Given the description of an element on the screen output the (x, y) to click on. 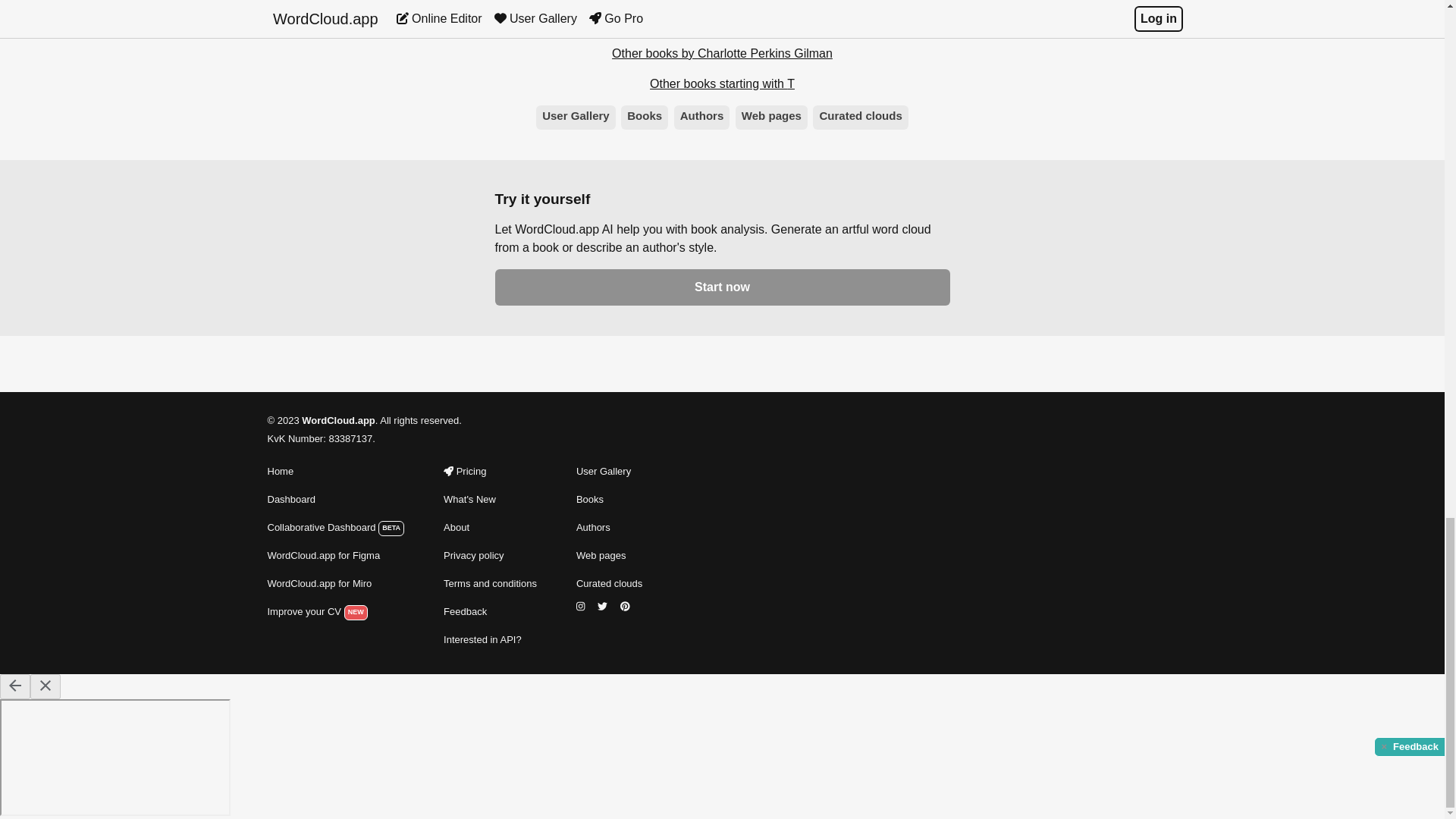
Feedback (490, 611)
Interested in accessing the WordCloud.app API? (490, 639)
Explore User-Created Word Clouds (609, 471)
WordCloud.app dashboard (335, 499)
Dashboard (335, 499)
Authors (609, 527)
Privacy policy (490, 556)
Other books starting with T (721, 84)
Release notes (490, 499)
Pricing (490, 471)
User Gallery (575, 117)
WordClouds for hundreds of books (609, 527)
Authors (702, 117)
Books (644, 117)
Interested in API? (490, 639)
